Given the description of an element on the screen output the (x, y) to click on. 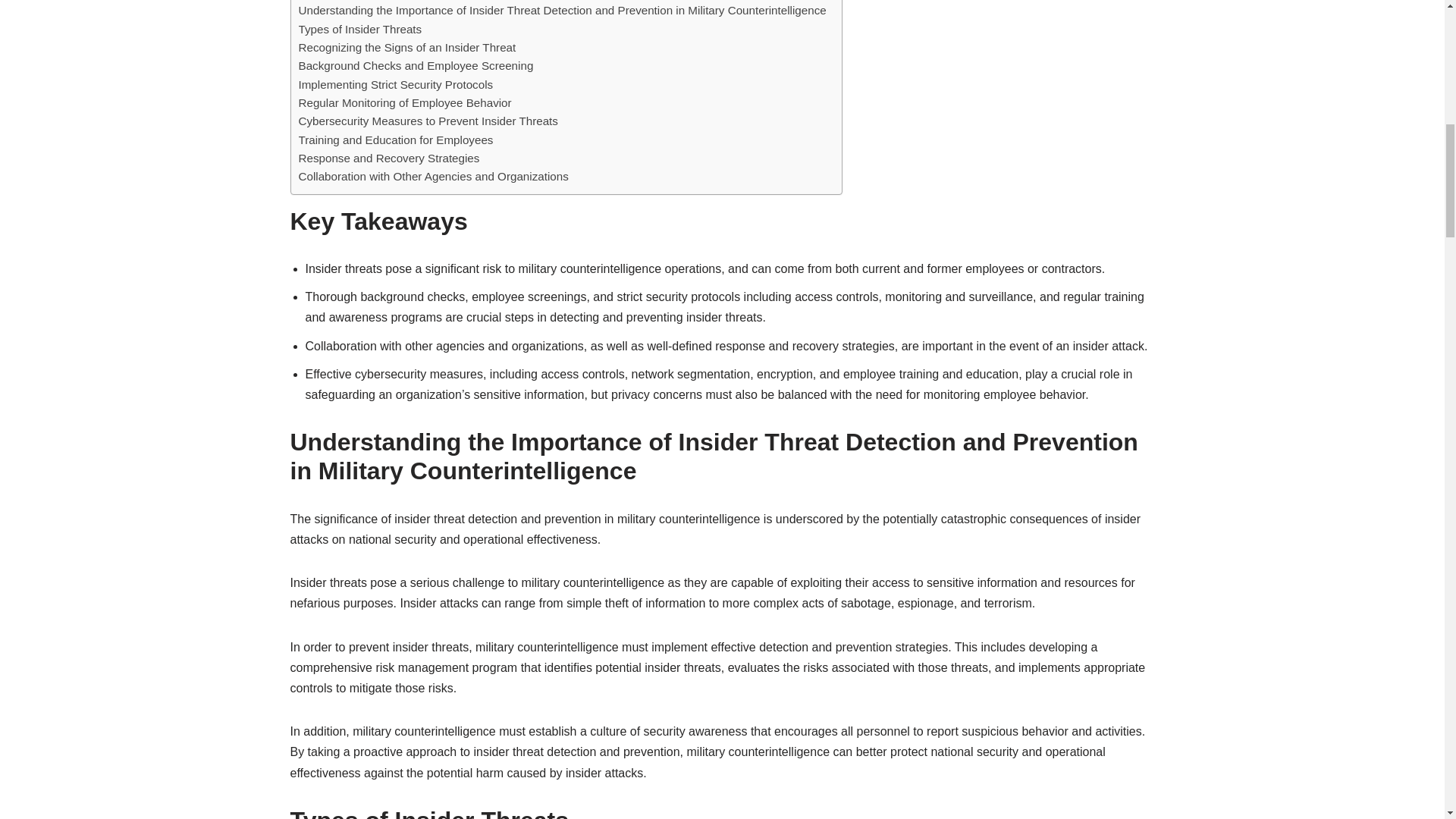
Collaboration with Other Agencies and Organizations (433, 176)
Types of Insider Threats (360, 29)
Key Takeaways (338, 0)
Response and Recovery Strategies (389, 158)
Cybersecurity Measures to Prevent Insider Threats (427, 121)
Regular Monitoring of Employee Behavior (405, 103)
Recognizing the Signs of an Insider Threat (407, 47)
Background Checks and Employee Screening (416, 65)
Types of Insider Threats (360, 29)
